Given the description of an element on the screen output the (x, y) to click on. 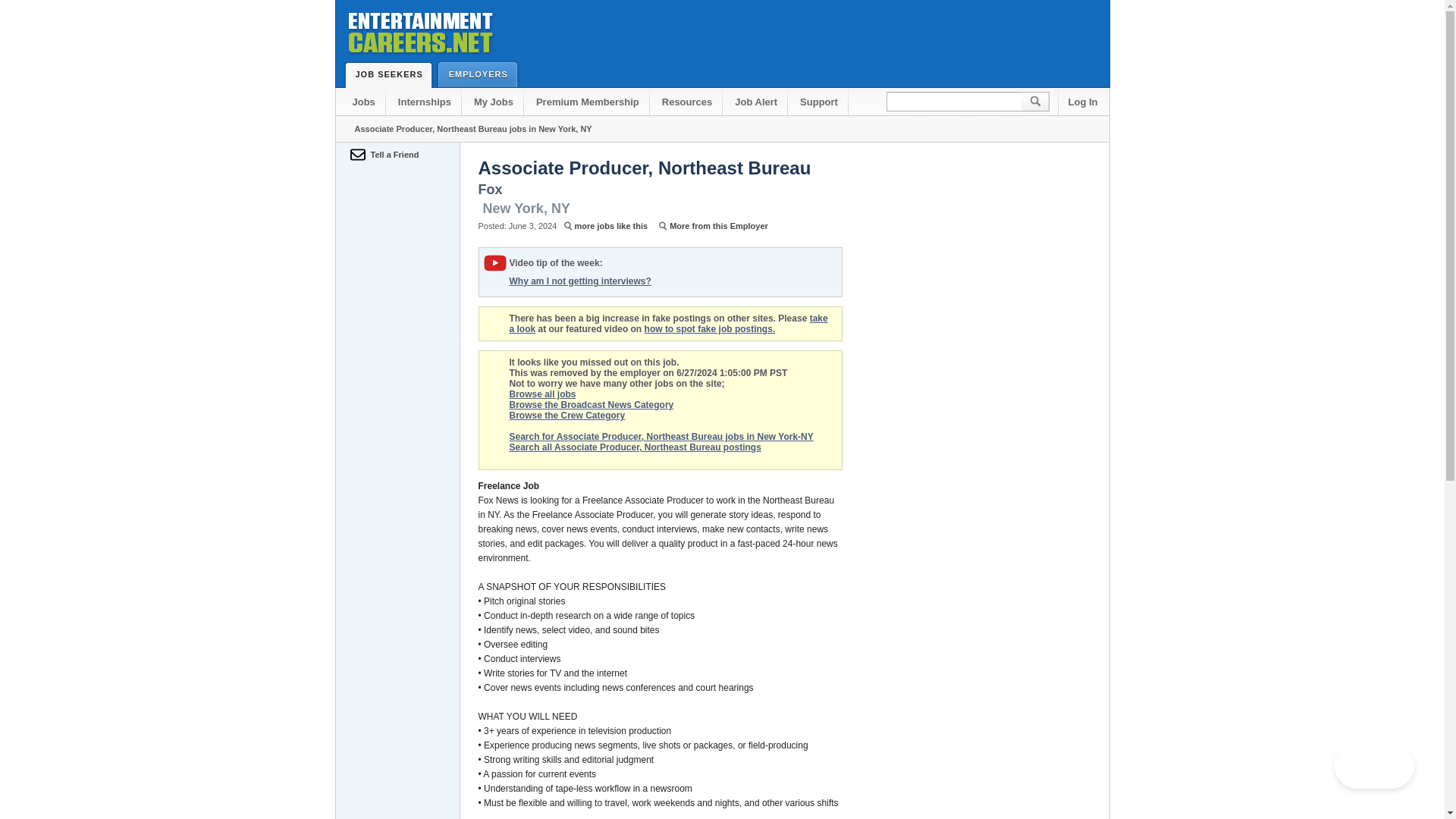
take a look (668, 323)
JOB SEEKERS (385, 73)
how to spot fake job postings. (710, 328)
Help Scout Beacon - Open (1374, 765)
More from this Employer (710, 225)
Premium Membership (587, 101)
My Jobs (493, 101)
Why am I not getting interviews? (579, 281)
Jobs (363, 101)
